Given the description of an element on the screen output the (x, y) to click on. 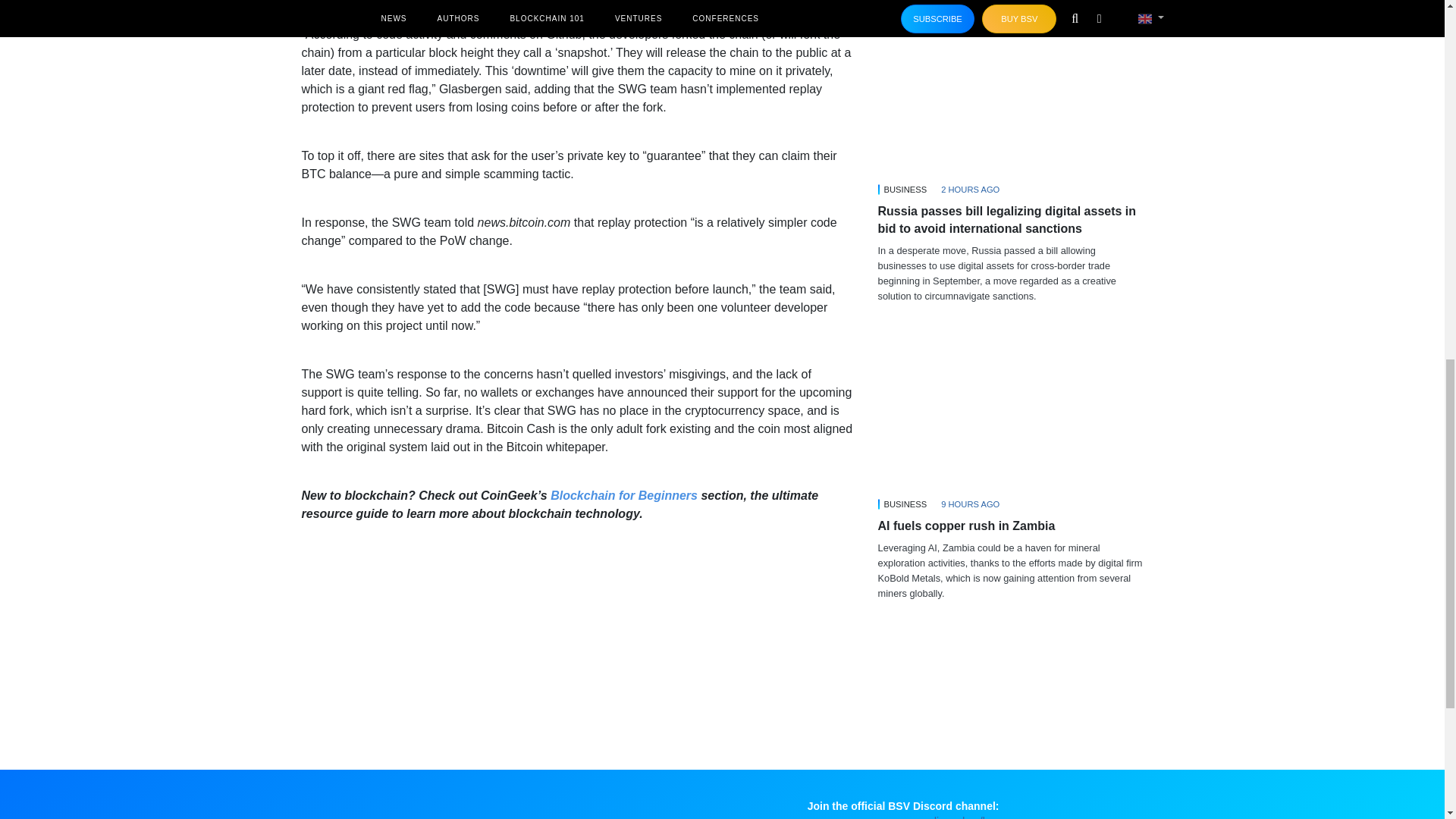
AI fuels copper rush in Zambia (1009, 418)
Blockchain for Beginners (623, 495)
